Given the description of an element on the screen output the (x, y) to click on. 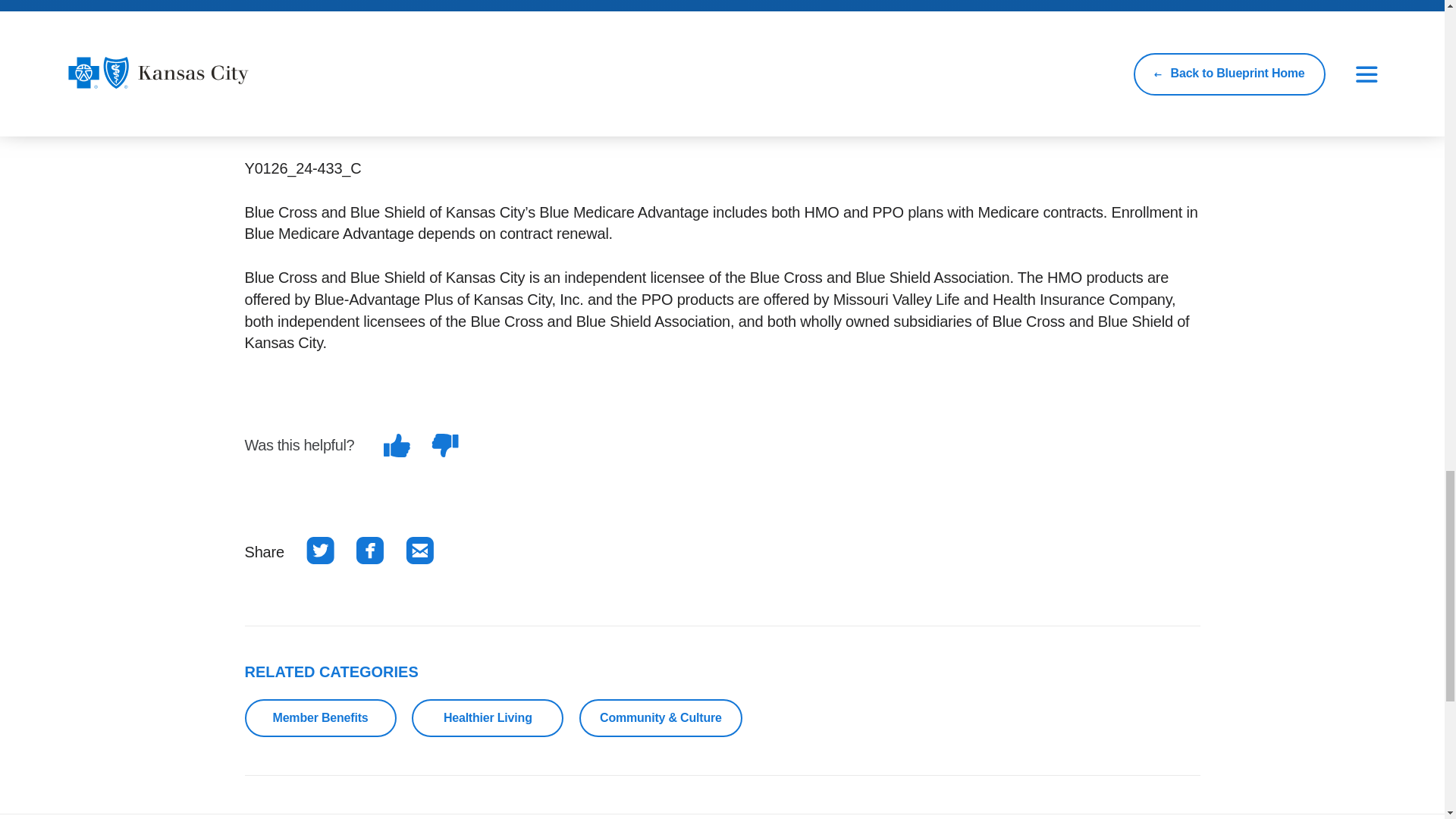
Member Benefits (320, 718)
Healthier Living (487, 718)
